Given the description of an element on the screen output the (x, y) to click on. 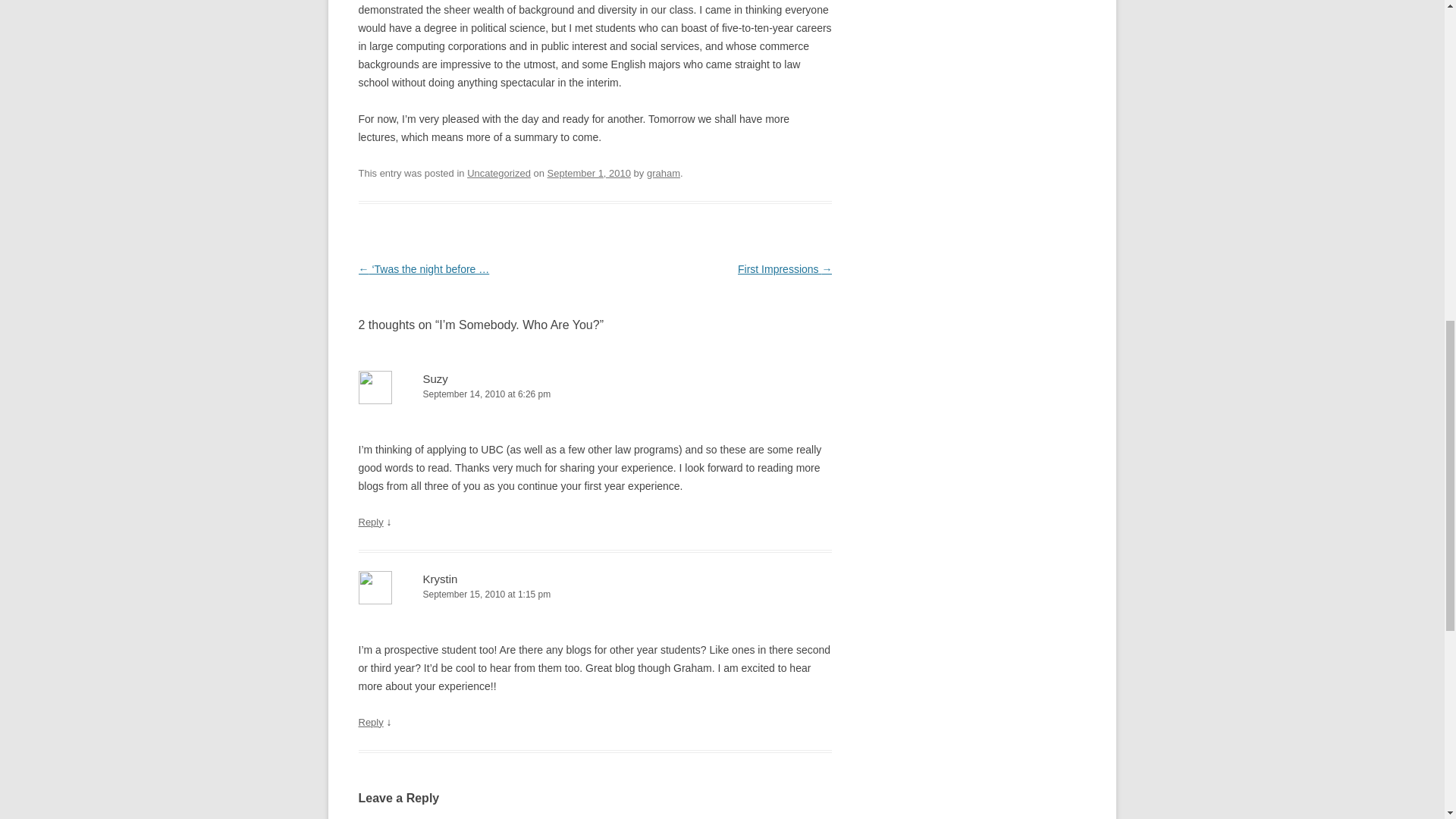
Reply (370, 722)
View all posts by graham (662, 173)
September 15, 2010 at 1:15 pm (594, 594)
graham (662, 173)
September 1, 2010 (588, 173)
Uncategorized (499, 173)
September 14, 2010 at 6:26 pm (594, 394)
Reply (370, 521)
5:00 pm (588, 173)
